Given the description of an element on the screen output the (x, y) to click on. 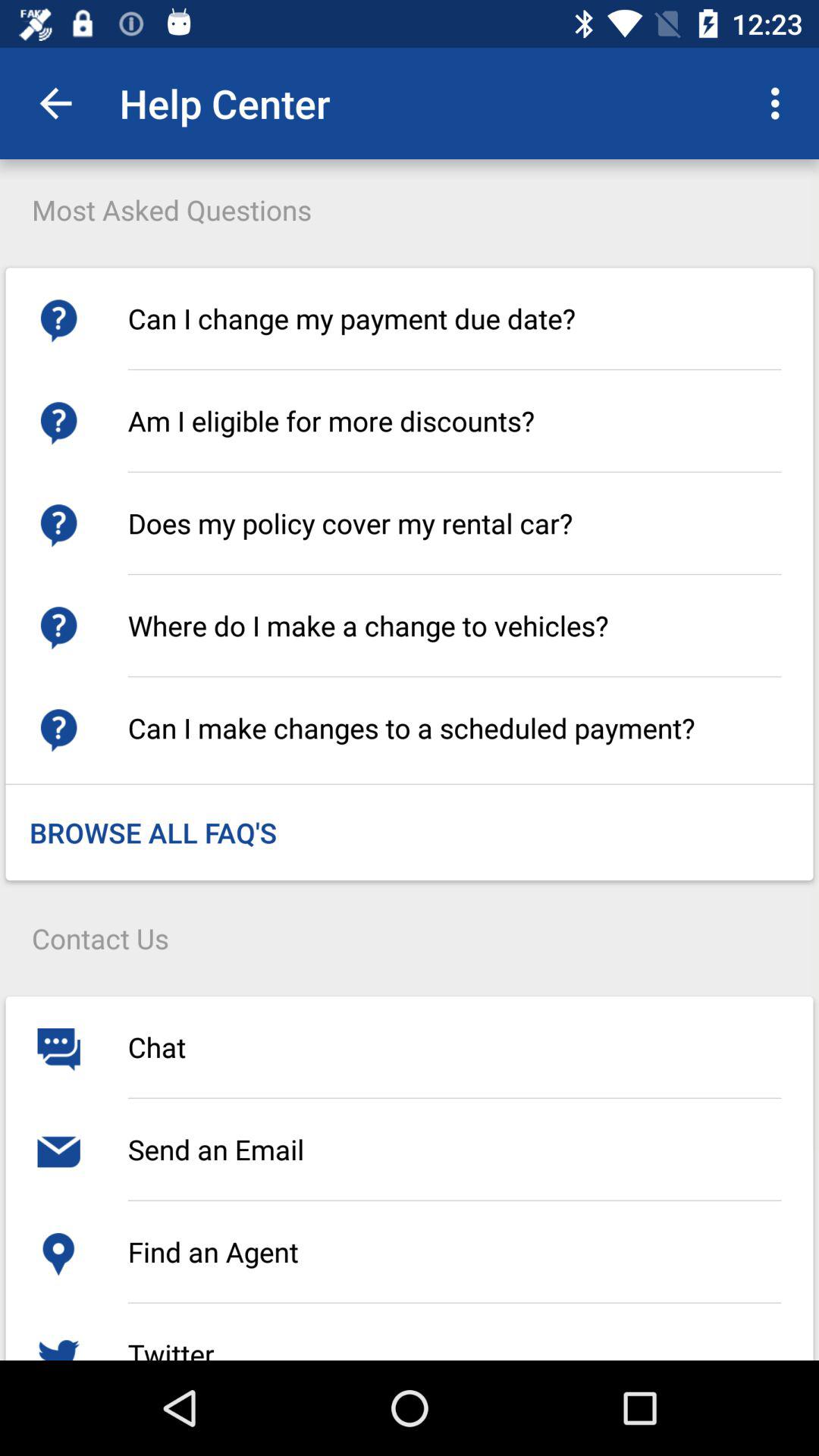
choose the app to the left of the help center (55, 103)
